Given the description of an element on the screen output the (x, y) to click on. 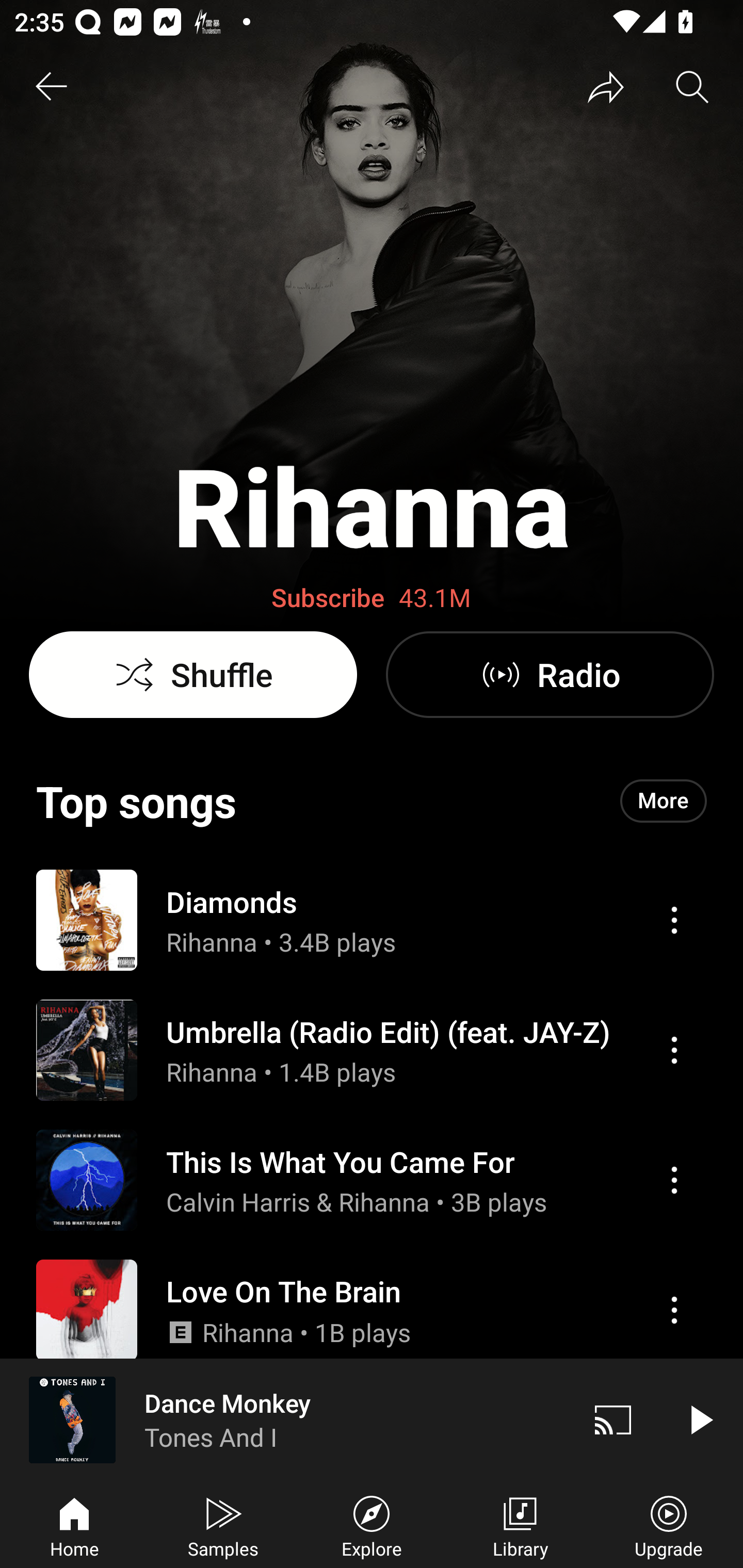
Back (50, 86)
Share (605, 86)
Search (692, 86)
Subscribe 43.1M (371, 598)
Shuffle (192, 674)
Radio (549, 674)
Action menu (371, 919)
Action menu (673, 920)
Action menu (371, 1049)
Action menu (673, 1050)
Action menu (371, 1179)
Action menu (673, 1179)
Action menu (371, 1309)
Action menu (673, 1310)
Action menu (371, 1428)
Cast. Disconnected (612, 1419)
Play video (699, 1419)
Home (74, 1524)
Samples (222, 1524)
Explore (371, 1524)
Library (519, 1524)
Upgrade (668, 1524)
